Given the description of an element on the screen output the (x, y) to click on. 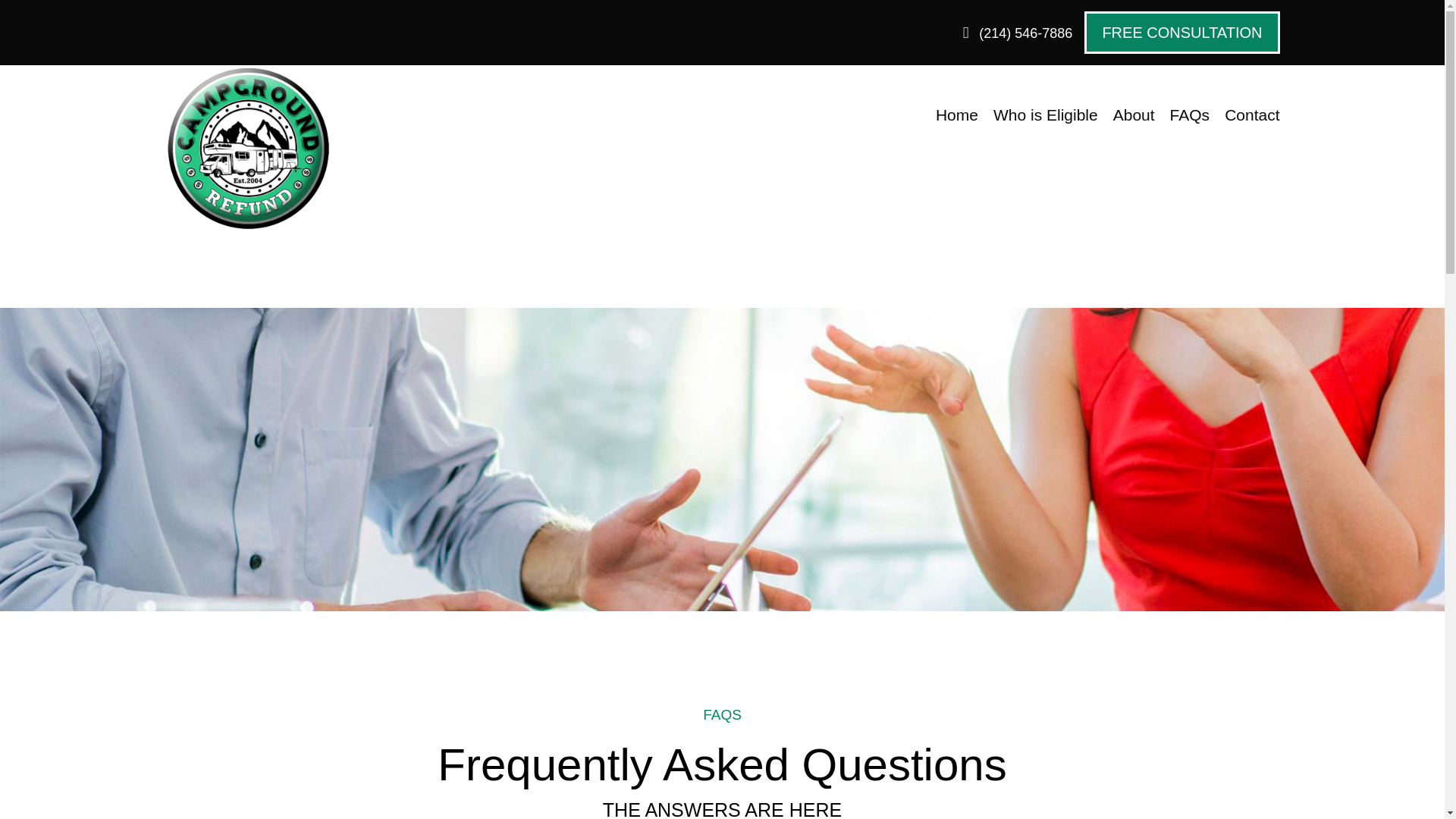
Contact (1251, 114)
FREE CONSULTATION (1181, 32)
About (1133, 114)
FAQs (1189, 114)
Home (957, 114)
Who is Eligible (1044, 114)
